Given the description of an element on the screen output the (x, y) to click on. 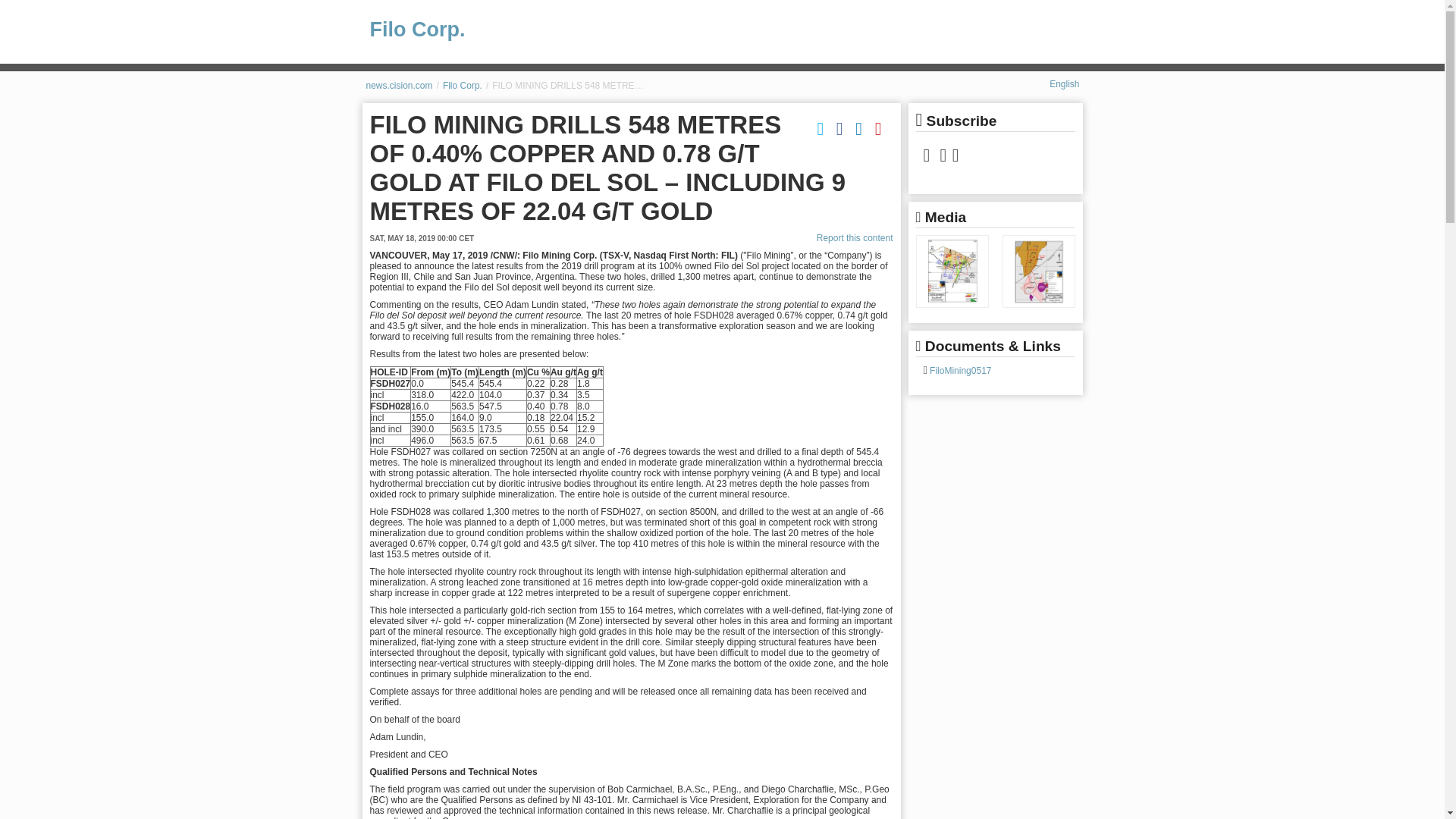
Report this content (854, 237)
FiloMining0517 (959, 370)
Filo Corp. (461, 85)
news.cision.com (398, 85)
Filo Corp. (729, 29)
English (1063, 83)
Filo Corp. (461, 85)
news.cision.com (398, 85)
